Given the description of an element on the screen output the (x, y) to click on. 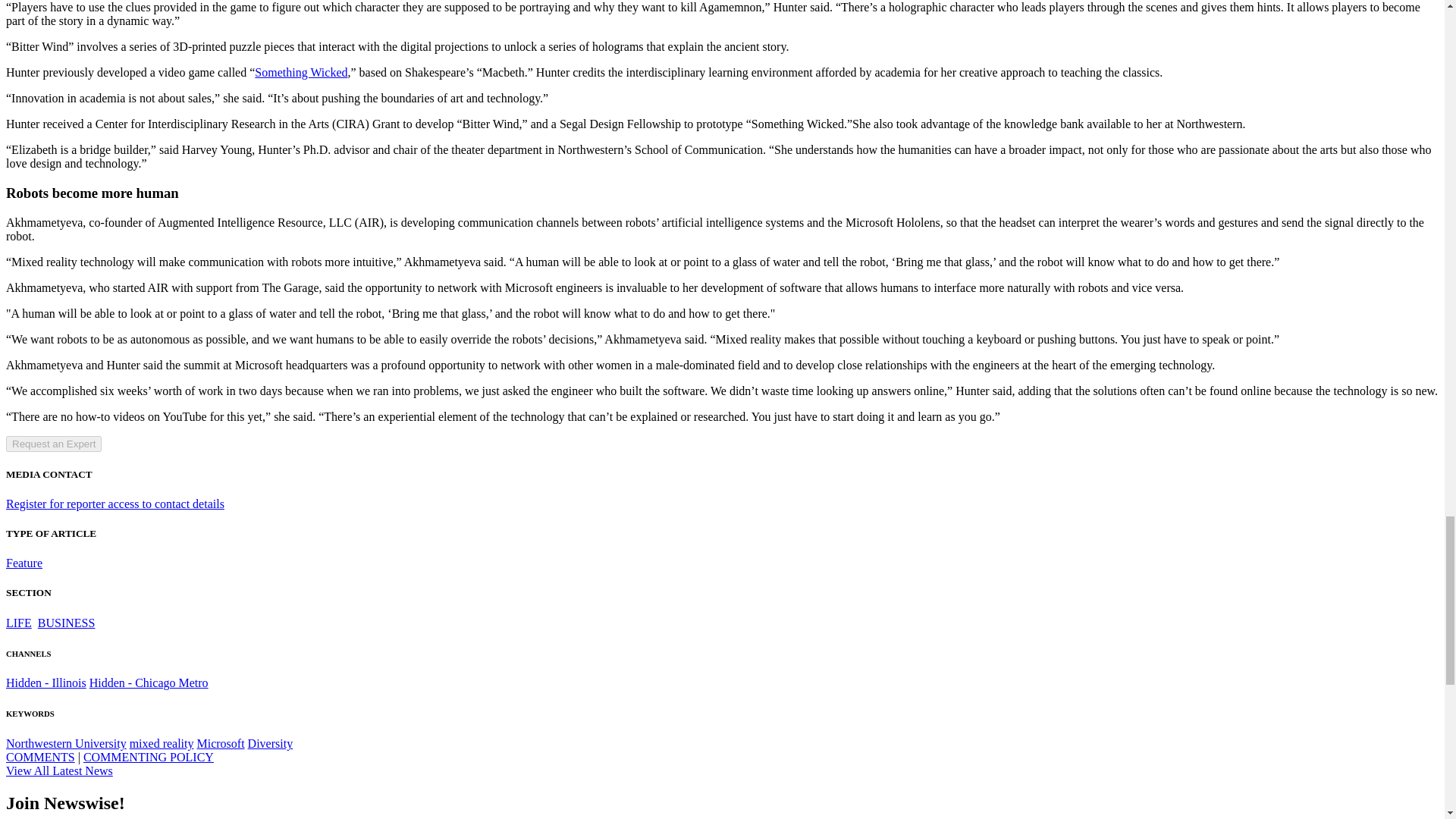
Show all articles in this channel (66, 622)
Show all articles in this channel (18, 622)
Feature (23, 562)
